Given the description of an element on the screen output the (x, y) to click on. 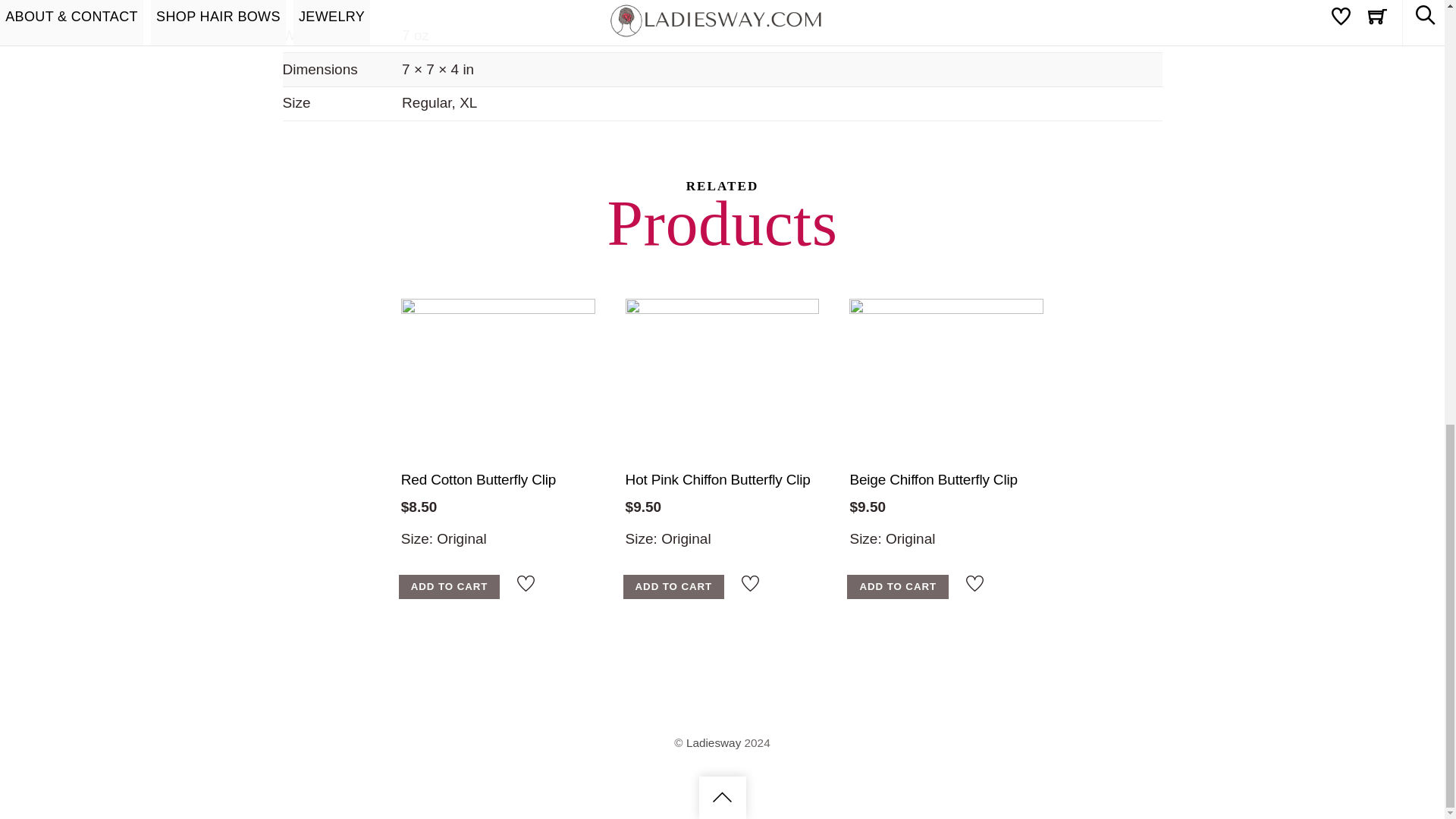
ADD TO CART (898, 586)
ADD TO CART (674, 586)
ADD TO CART (449, 586)
Ladiesway (713, 741)
